Given the description of an element on the screen output the (x, y) to click on. 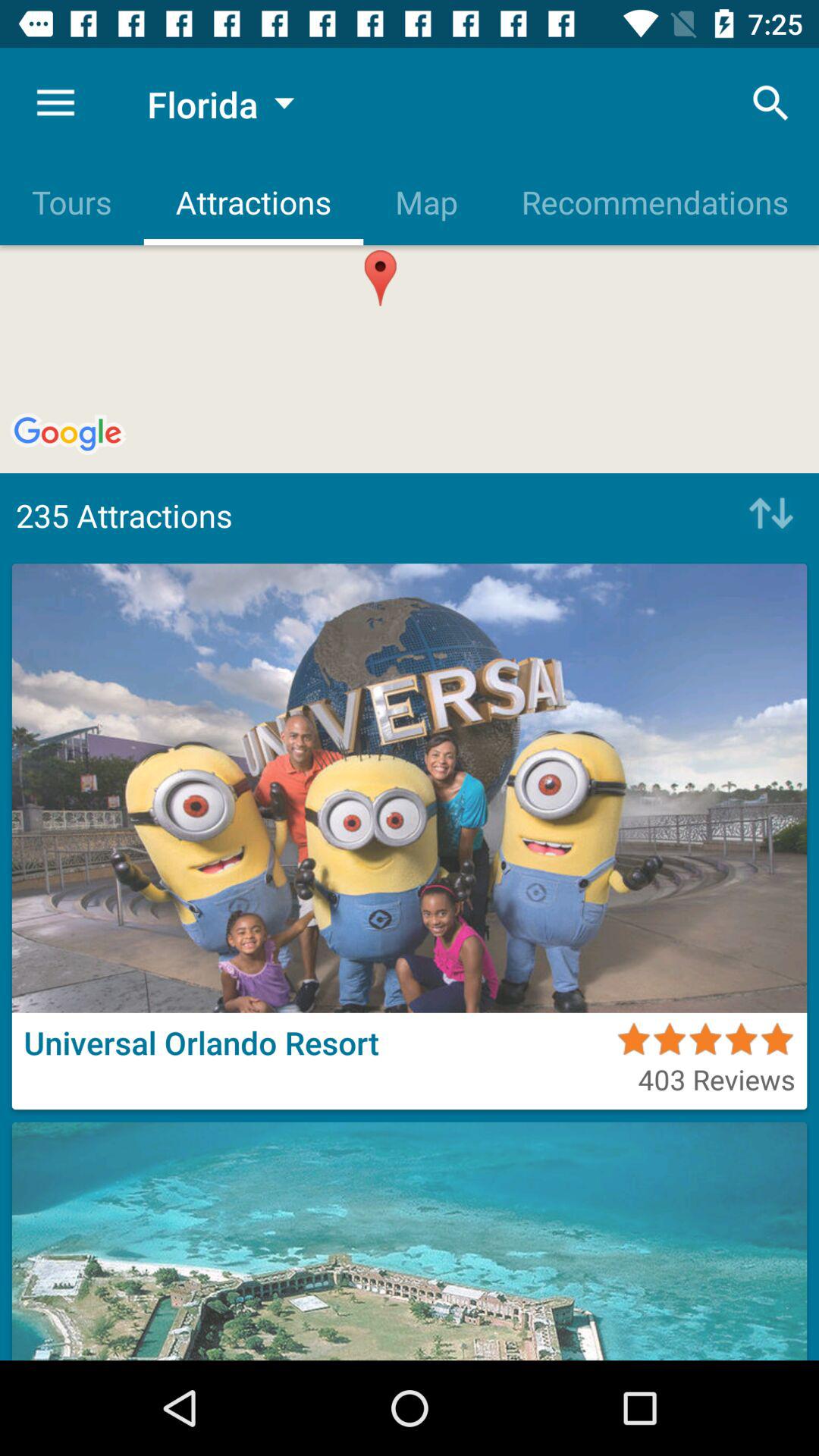
click item below recommendations app (767, 515)
